Given the description of an element on the screen output the (x, y) to click on. 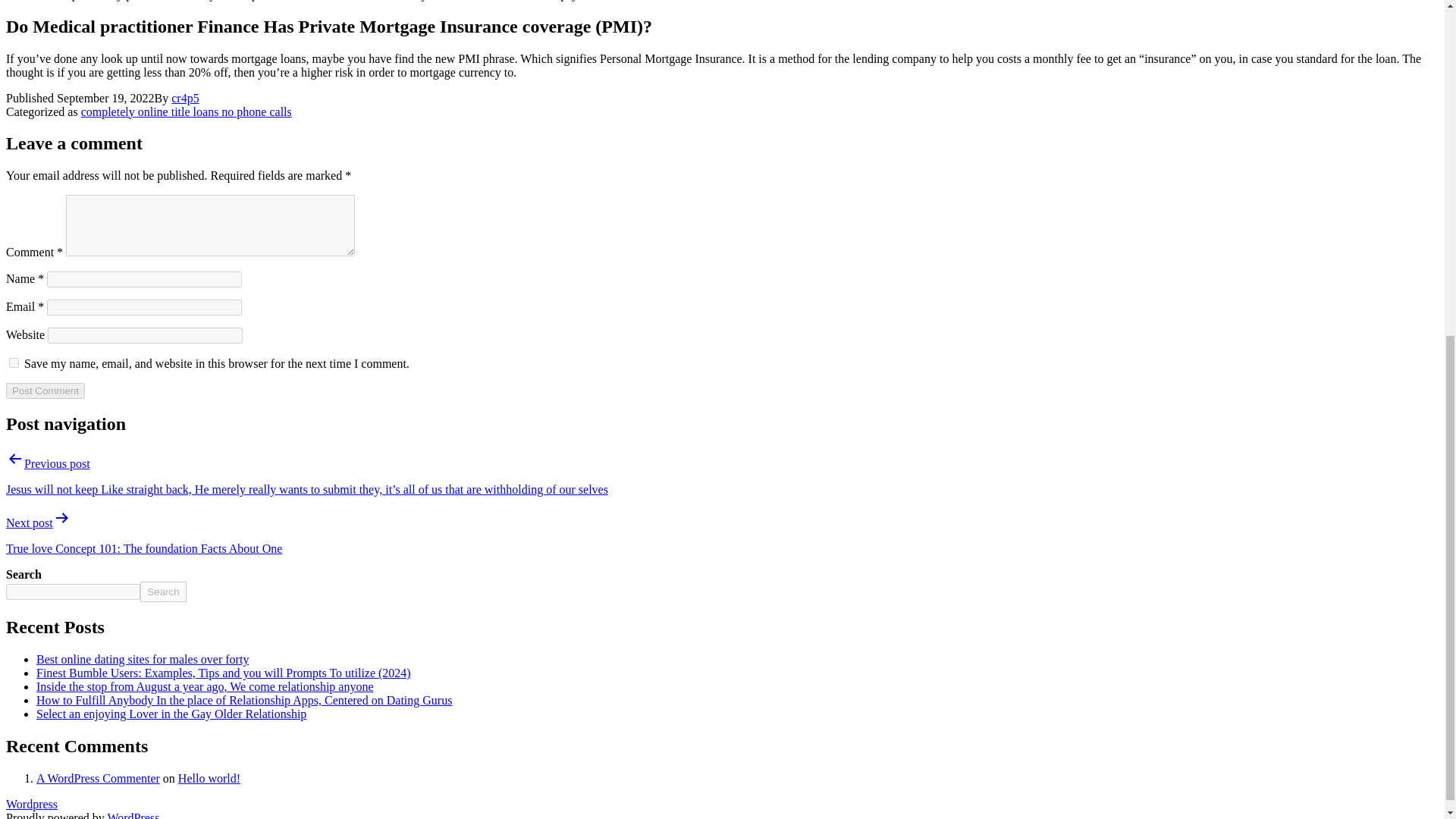
Best online dating sites for males over forty (142, 658)
Wordpress (31, 803)
completely online title loans no phone calls (186, 111)
yes (13, 362)
Search (162, 591)
Select an enjoying Lover in the Gay Older Relationship (170, 713)
cr4p5 (184, 97)
Post Comment (44, 390)
